Given the description of an element on the screen output the (x, y) to click on. 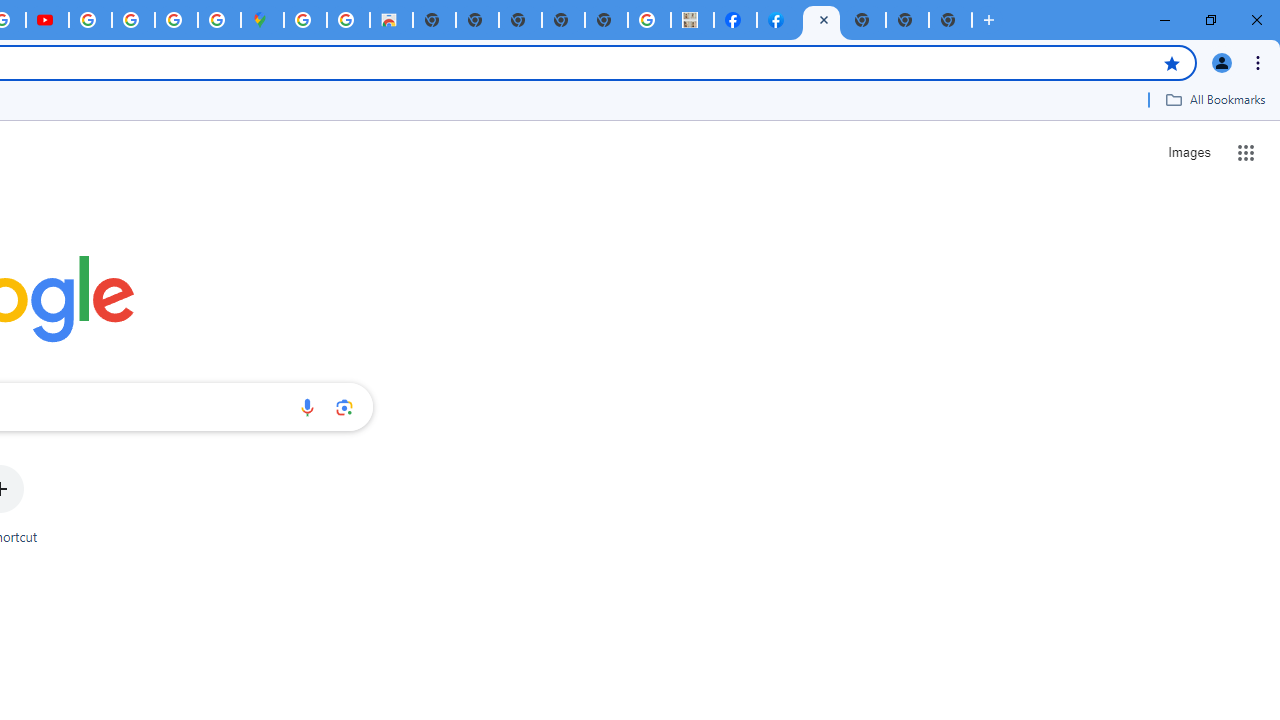
New Tab (864, 20)
Search by image (344, 407)
Search by voice (307, 407)
Google Maps (262, 20)
Miley Cyrus | Facebook (735, 20)
